Given the description of an element on the screen output the (x, y) to click on. 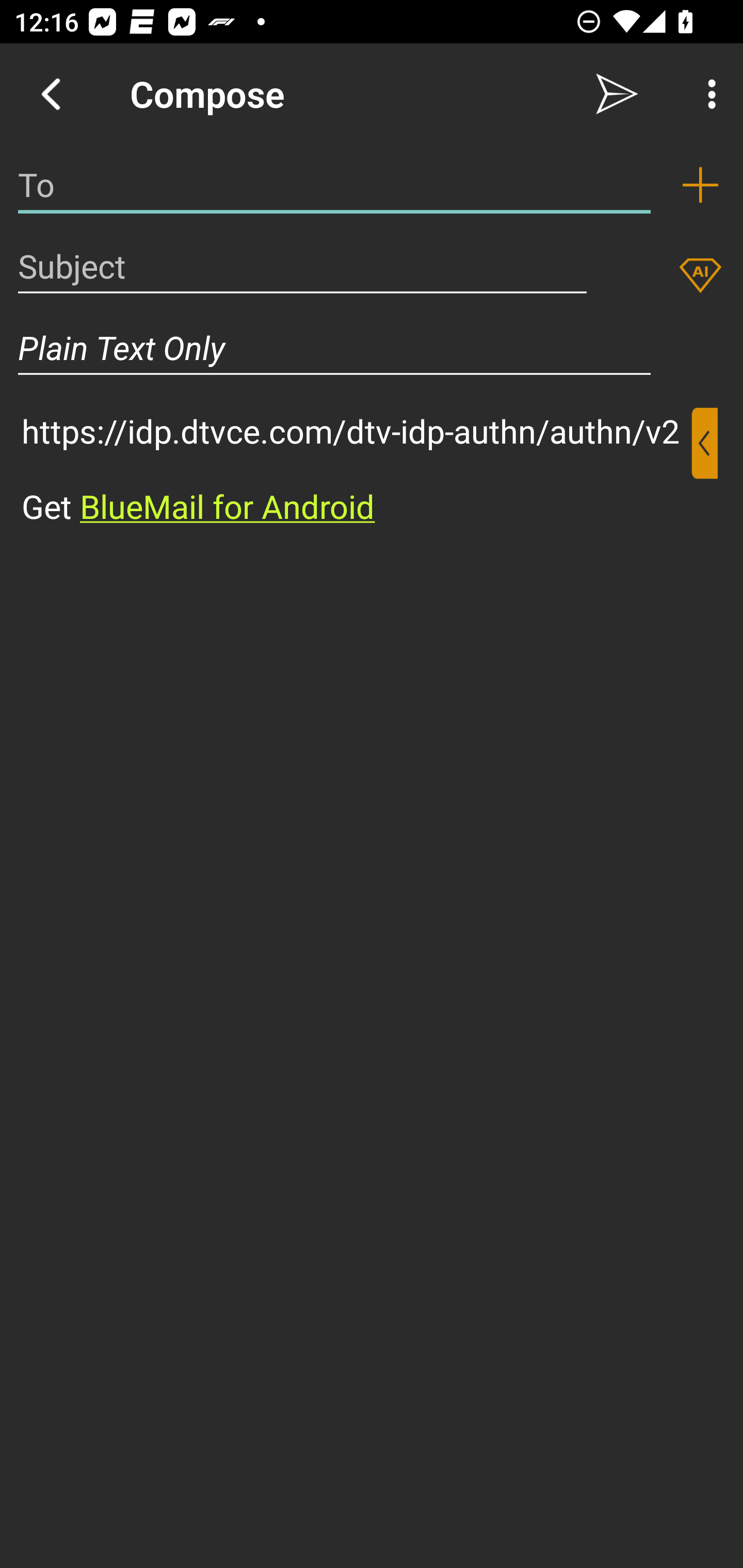
Navigate up (50, 93)
Send (616, 93)
More Options (706, 93)
To (334, 184)
Add recipient (To) (699, 184)
Subject (302, 266)
Plain Text Only (371, 347)
